Given the description of an element on the screen output the (x, y) to click on. 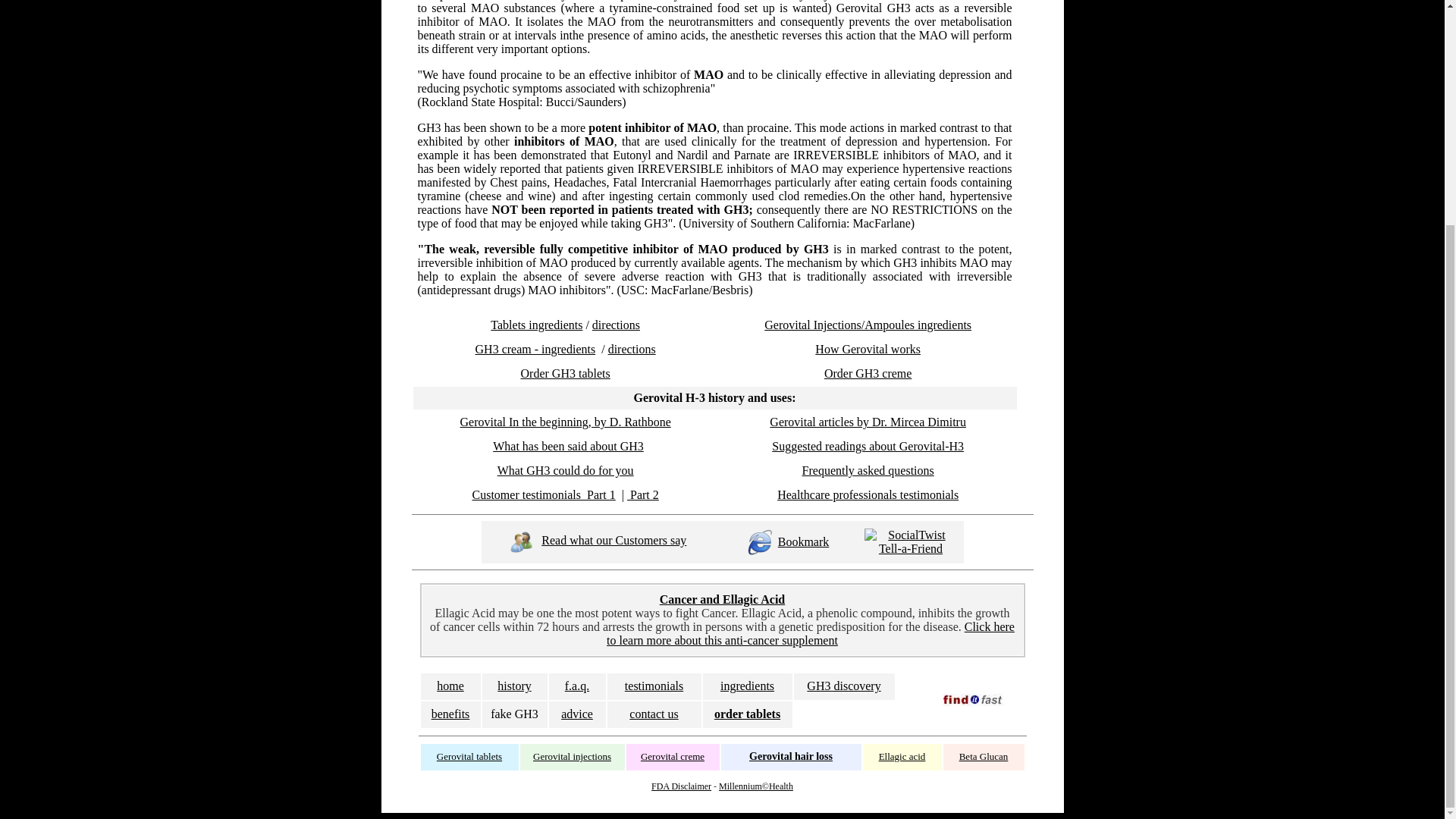
GH3 discovery (843, 685)
Customer testimonials  Part 1 (542, 494)
Cancer and Ellagic Acid (722, 599)
Gerovital In the beginning, by D. Rathbone (565, 421)
benefits (450, 713)
directions (632, 349)
ingredients (747, 685)
Suggested readings about Gerovital-H3 (867, 445)
directions (616, 324)
Healthcare professionals testimonials (867, 494)
What GH3 could do for you (565, 470)
Order GH3 creme (868, 373)
Gerovital articles by Dr. Mircea Dimitru (868, 421)
Order GH3 tablets (565, 373)
Tablets ingredients (536, 324)
